Given the description of an element on the screen output the (x, y) to click on. 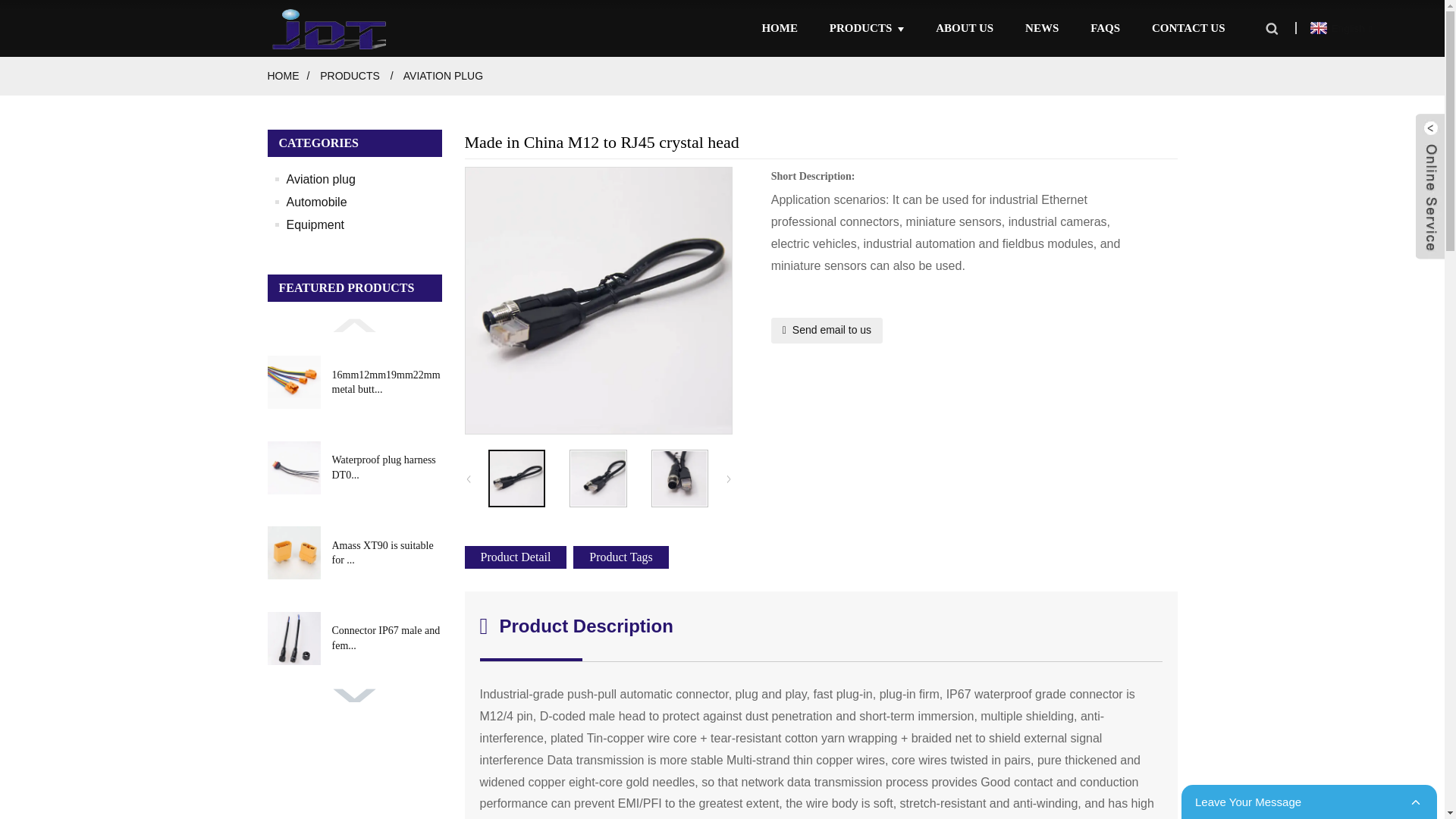
NEWS (1041, 27)
ABOUT US (964, 27)
FAQS (1104, 27)
HOME (779, 27)
CONTACT US (1188, 27)
PRODUCTS (866, 27)
English (1339, 28)
